Given the description of an element on the screen output the (x, y) to click on. 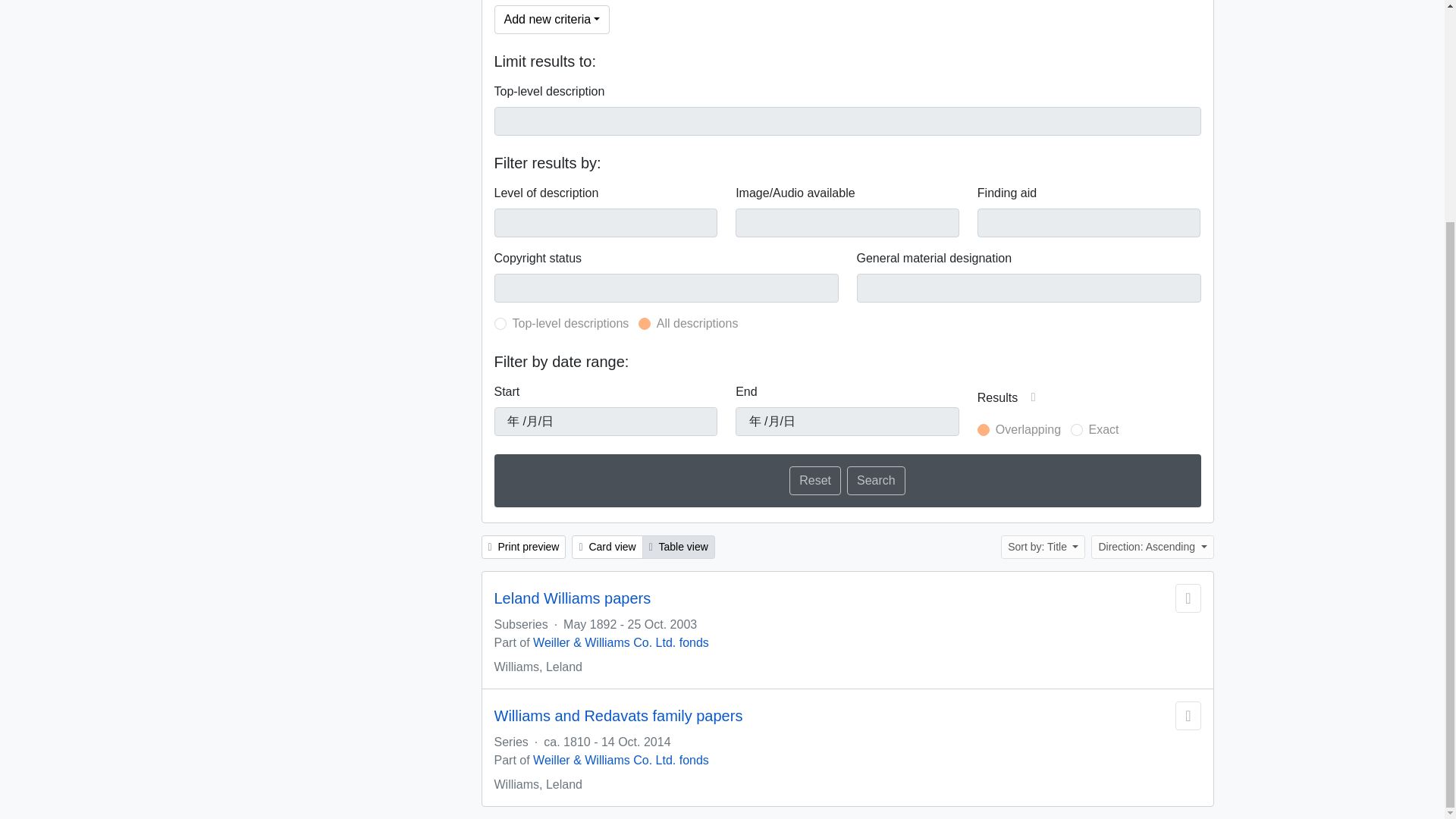
Reset (815, 480)
exact (1076, 429)
Search (876, 480)
0 (644, 323)
inclusive (983, 429)
1 (500, 323)
